Given the description of an element on the screen output the (x, y) to click on. 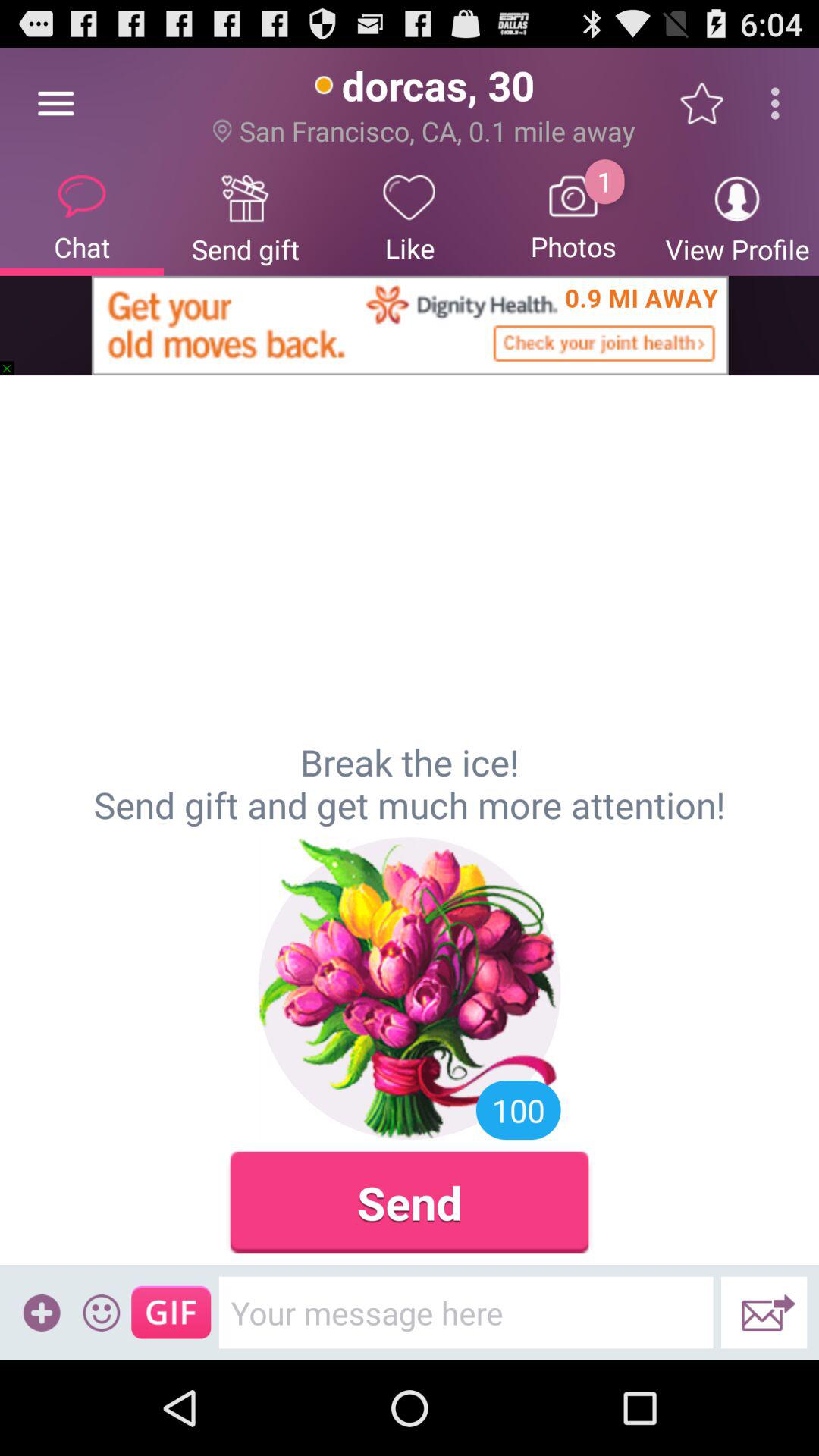
turn off chat (81, 217)
